Given the description of an element on the screen output the (x, y) to click on. 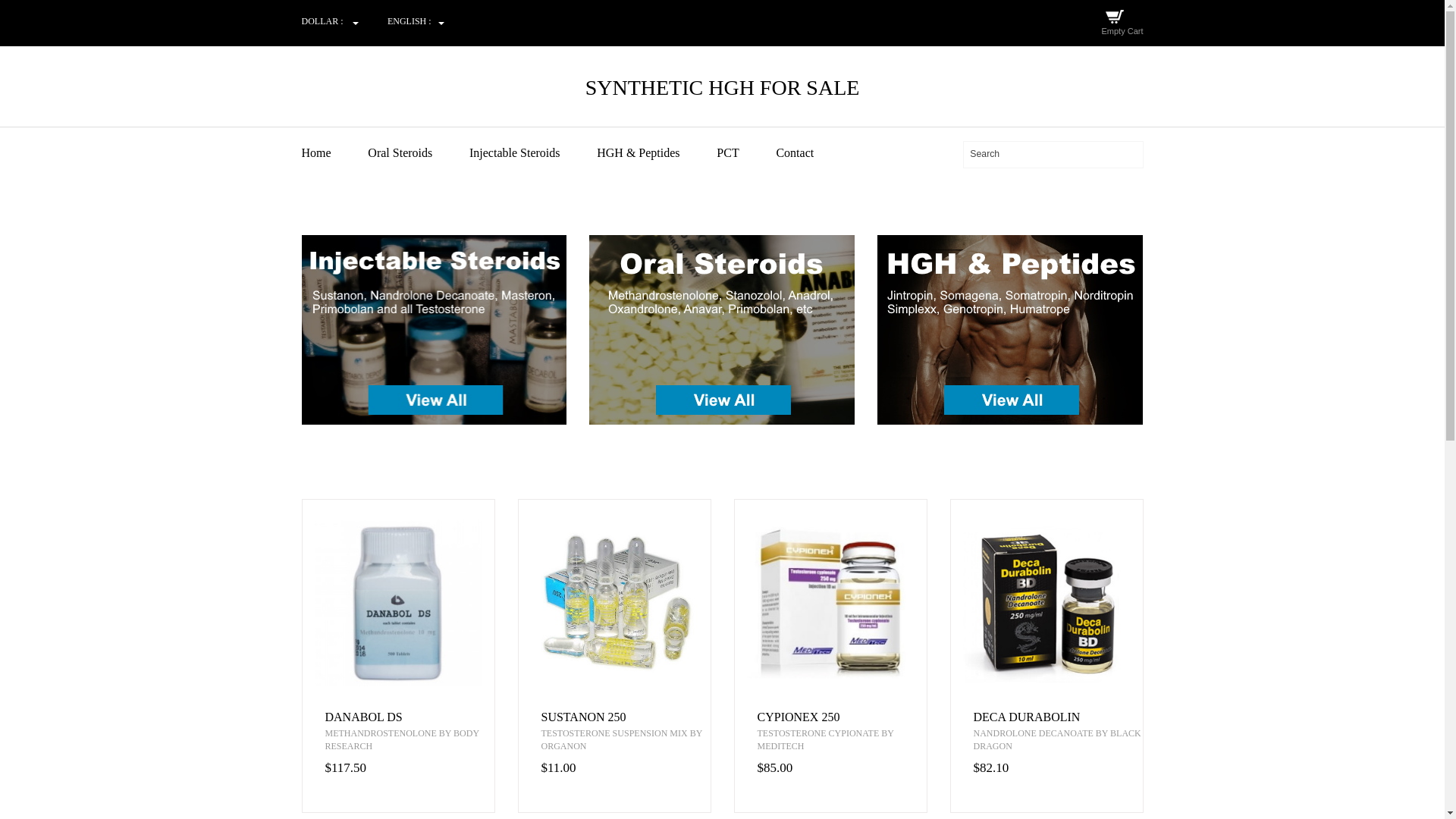
Injectable Steroids (531, 153)
DECA DURABOLIN (1058, 716)
DANABOL DS (408, 716)
Home (333, 153)
PCT (744, 153)
CYPIONEX 250 (841, 716)
SUSTANON 250 (625, 716)
Contact (811, 153)
Empty Cart (1121, 31)
Search (1052, 153)
